Given the description of an element on the screen output the (x, y) to click on. 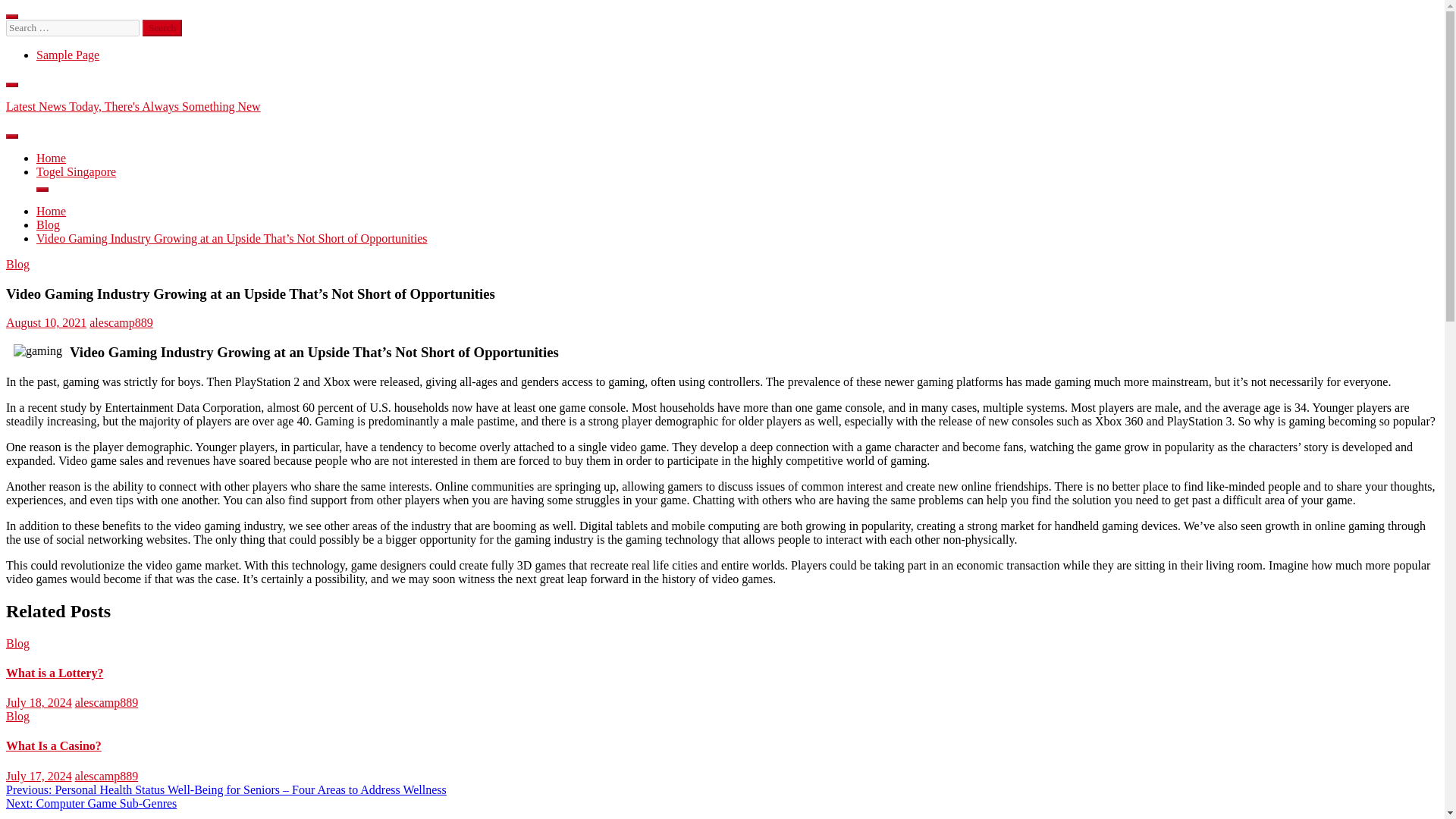
Search (162, 27)
Blog (17, 264)
July 18, 2024 (38, 702)
alescamp889 (106, 702)
What Is a Casino? (53, 745)
What is a Lottery? (54, 672)
July 17, 2024 (38, 775)
Next: Computer Game Sub-Genres (90, 802)
Blog (47, 224)
August 10, 2021 (45, 322)
Latest News Today, There's Always Something New (132, 106)
Search (162, 27)
Blog (17, 643)
Blog (17, 716)
